Given the description of an element on the screen output the (x, y) to click on. 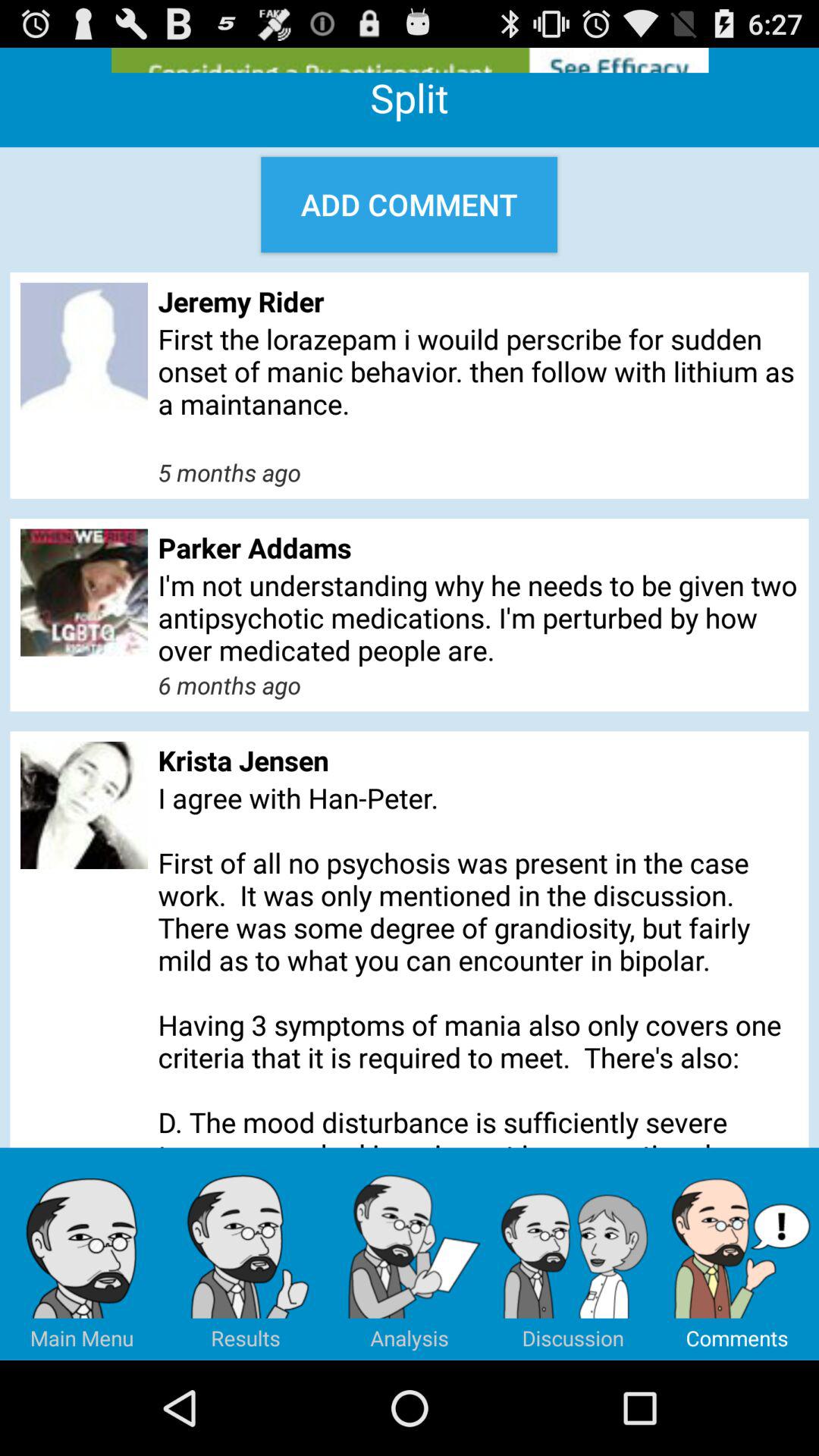
turn on item below 6 months ago item (478, 760)
